Given the description of an element on the screen output the (x, y) to click on. 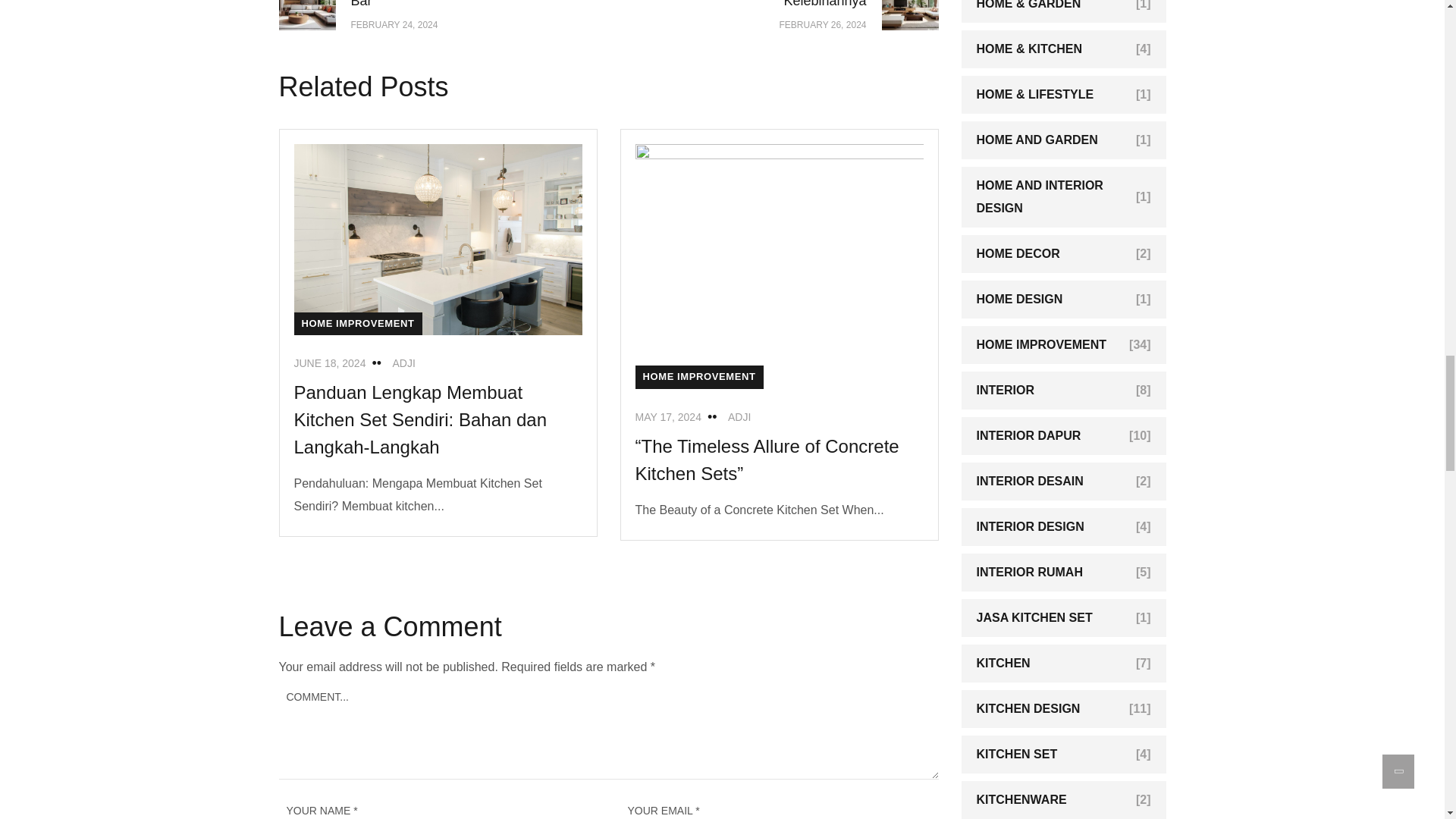
JUNE 18, 2024 (330, 363)
ADJI (402, 363)
HOME IMPROVEMENT (358, 323)
MAY 17, 2024 (667, 417)
ADJI (739, 417)
HOME IMPROVEMENT (825, 15)
